Given the description of an element on the screen output the (x, y) to click on. 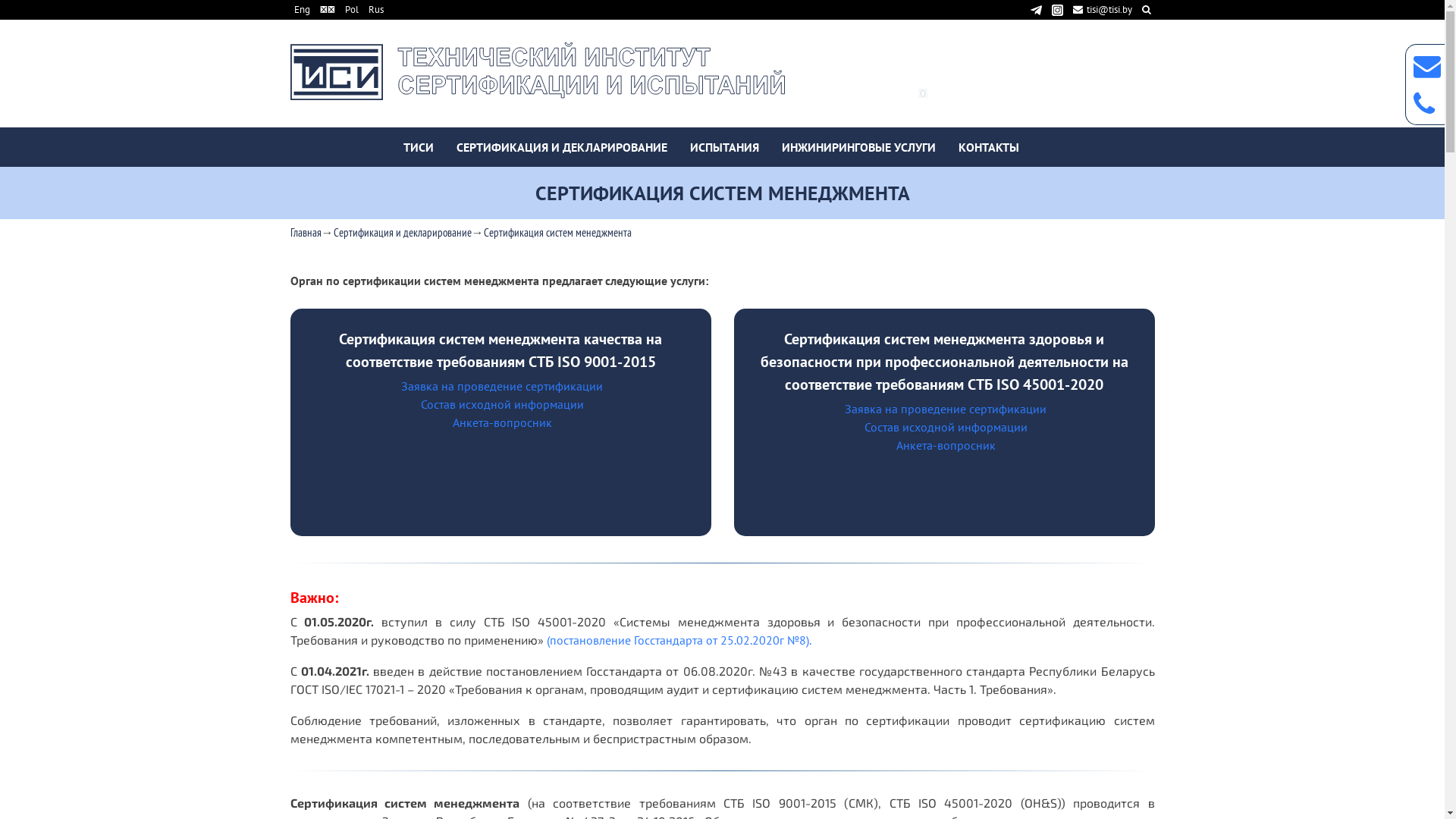
Rus Element type: text (375, 9)
(+375 17) 322-10-33 Element type: text (971, 54)
(+375 29) 623-38-98 Element type: text (984, 72)
(+375 29) 760-53-48 Element type: text (985, 90)
tisi@tisi.by Element type: text (1102, 9)
Pol Element type: text (350, 9)
Eng Element type: text (302, 9)
